Given the description of an element on the screen output the (x, y) to click on. 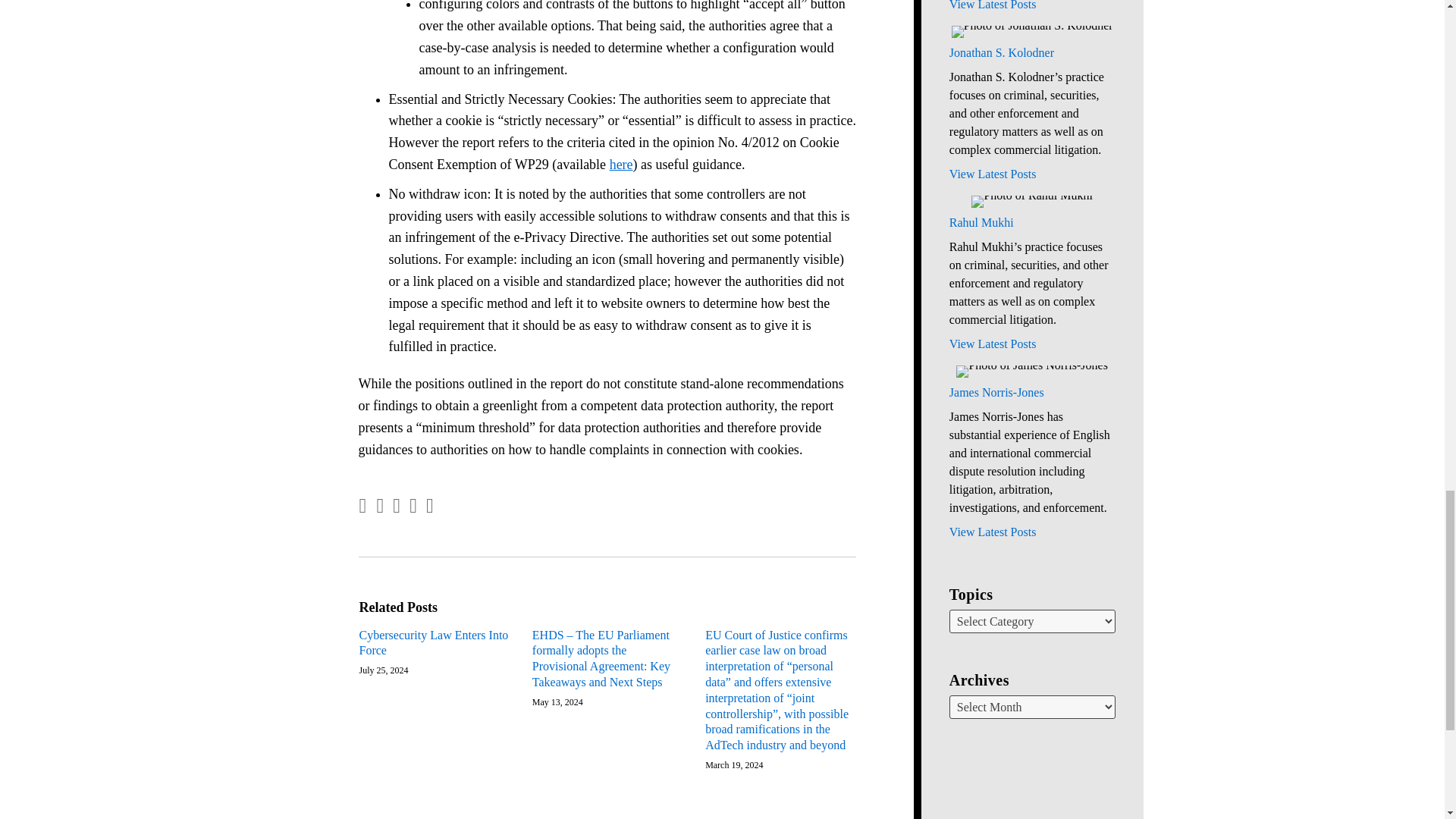
here (621, 164)
Cybersecurity Law Enters Into Force (434, 644)
